Given the description of an element on the screen output the (x, y) to click on. 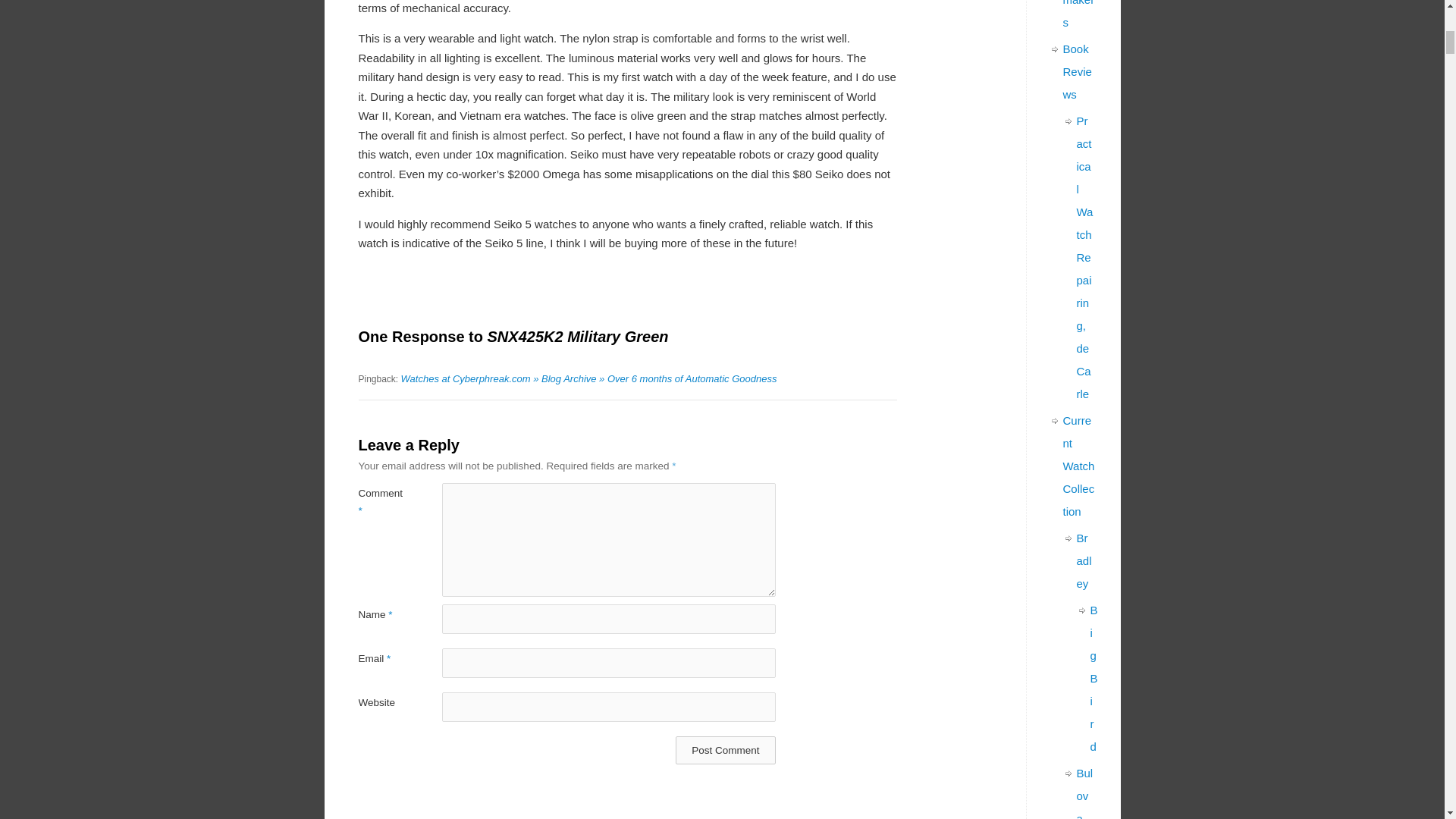
Post Comment (724, 750)
